Given the description of an element on the screen output the (x, y) to click on. 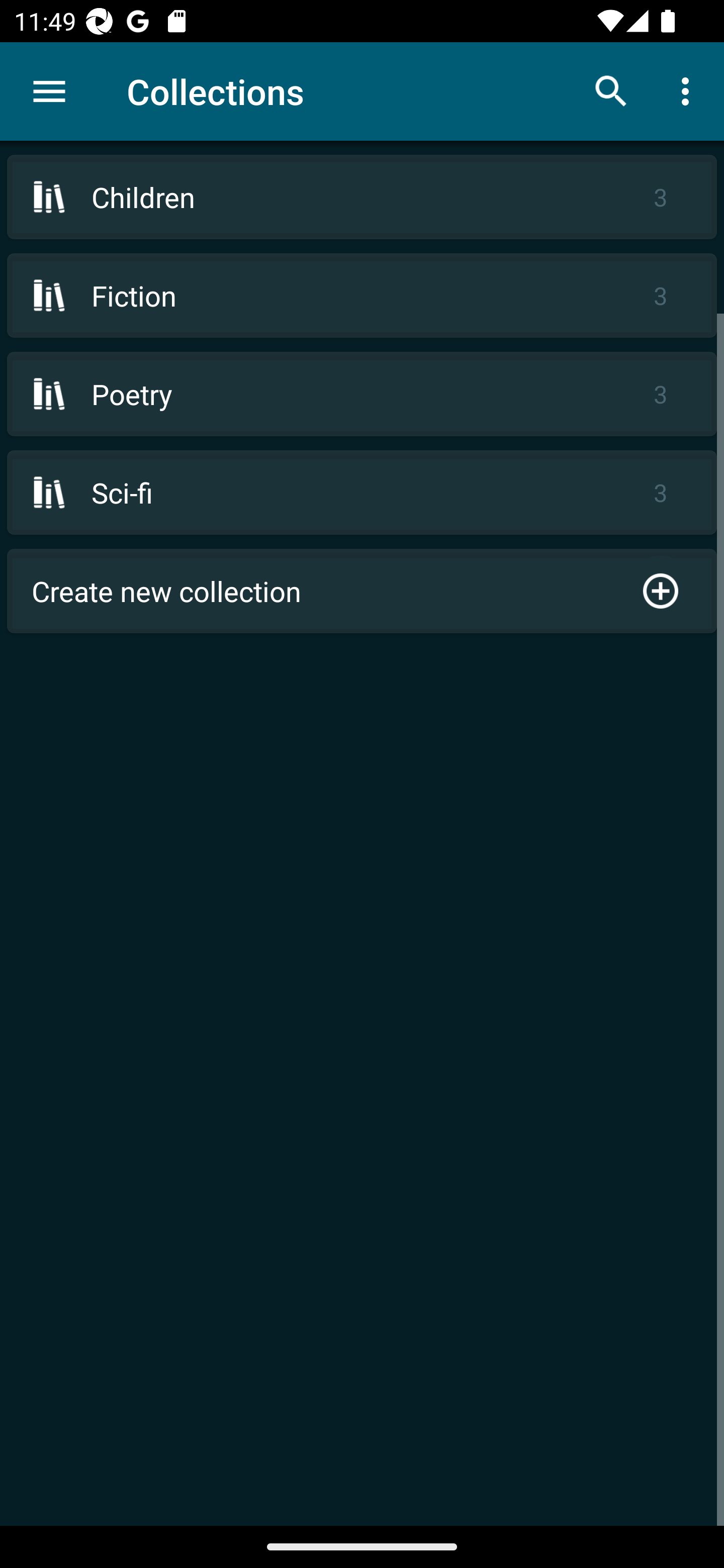
Menu (49, 91)
Search books & documents (611, 90)
More options (688, 90)
Children 3 (361, 197)
Fiction 3 (361, 295)
Poetry 3 (361, 393)
Sci-fi 3 (361, 492)
Create new collection (361, 590)
